Given the description of an element on the screen output the (x, y) to click on. 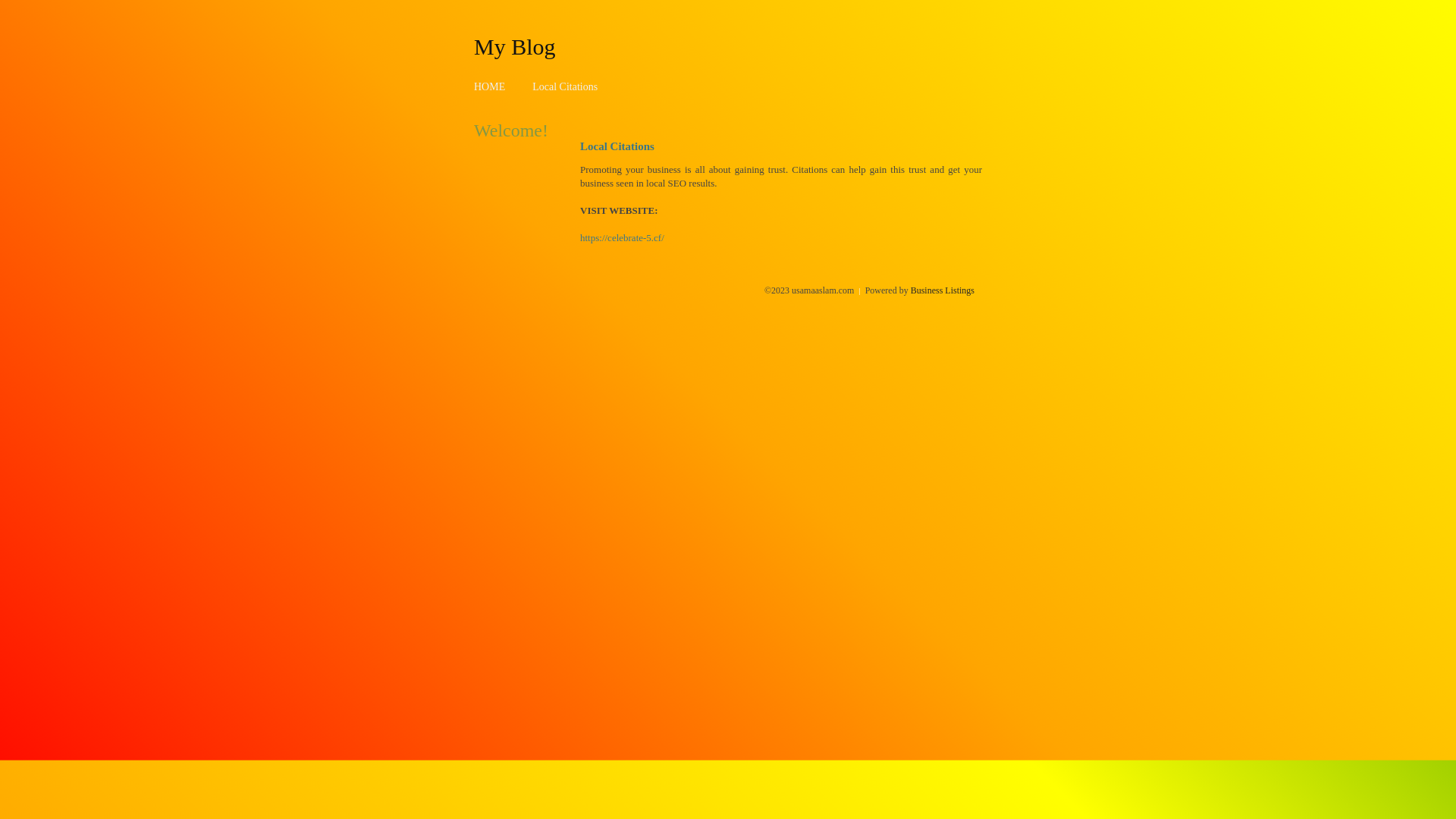
Business Listings Element type: text (942, 290)
My Blog Element type: text (514, 46)
HOME Element type: text (489, 86)
Local Citations Element type: text (564, 86)
https://celebrate-5.cf/ Element type: text (622, 237)
